Given the description of an element on the screen output the (x, y) to click on. 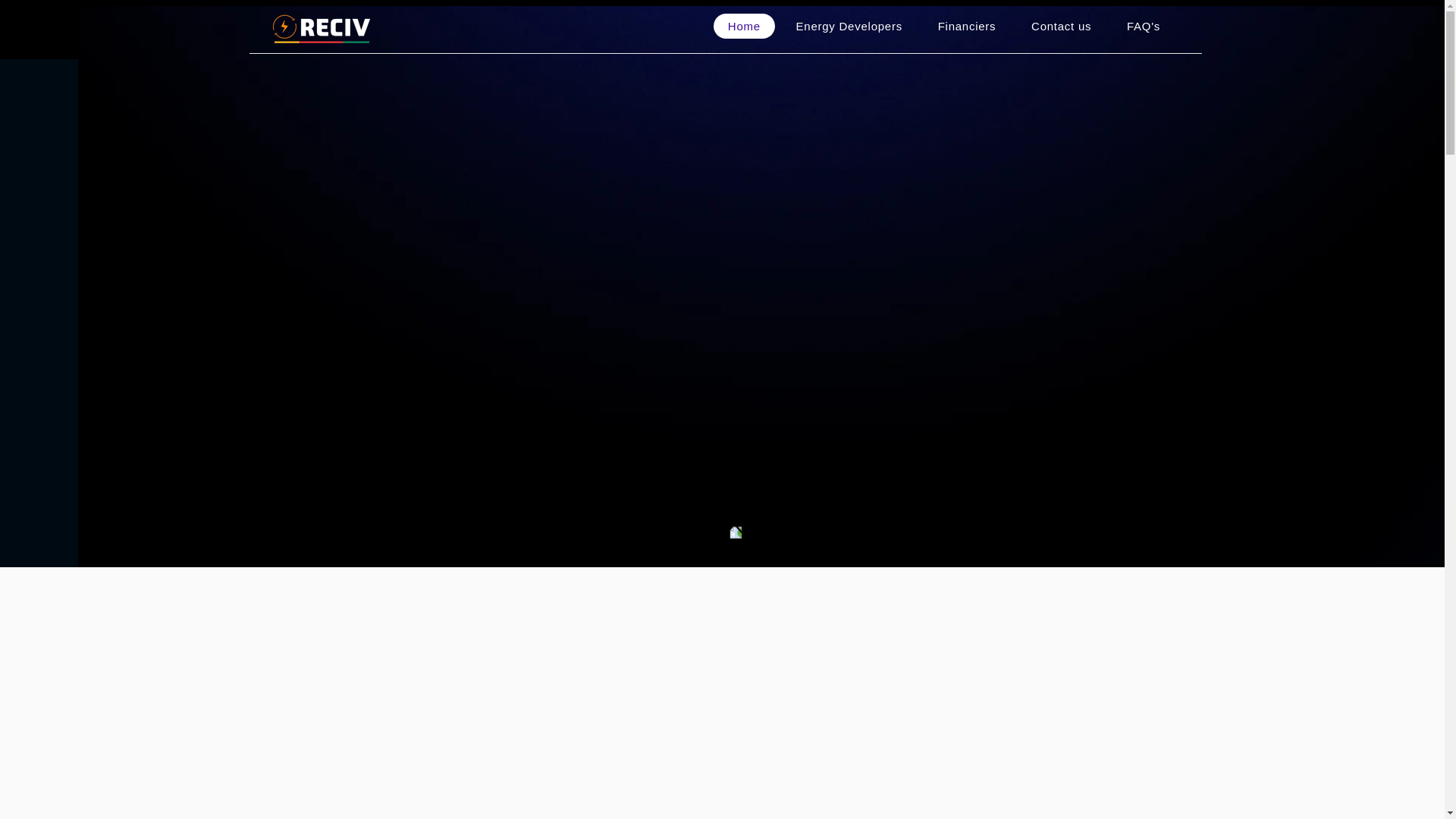
FAQ's (1143, 25)
Home (743, 25)
Contact us (1061, 25)
Financiers (966, 25)
Energy Developers (848, 25)
